Given the description of an element on the screen output the (x, y) to click on. 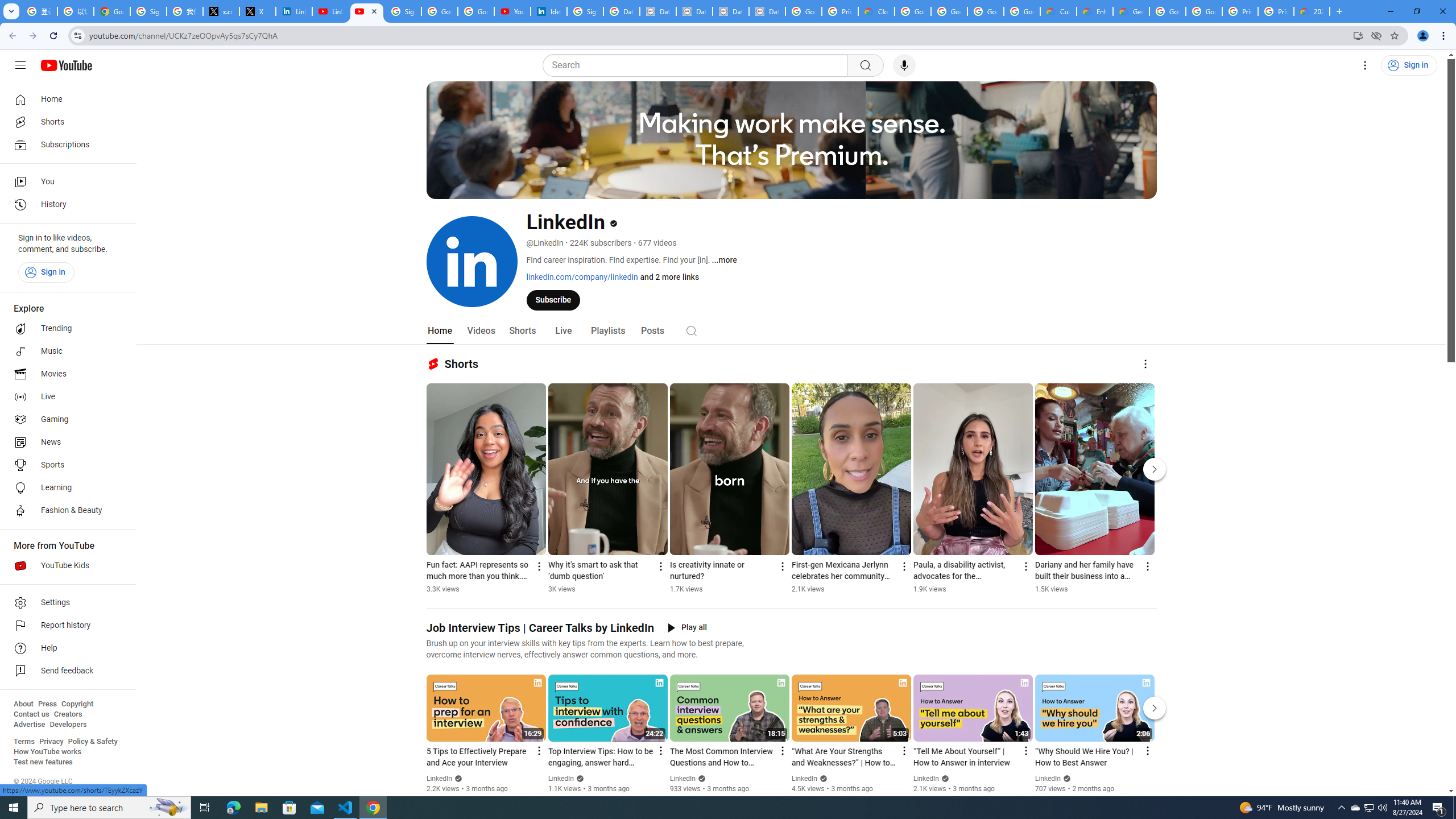
Verified (1065, 777)
Subscribe (552, 299)
Press (46, 703)
About (23, 703)
Sports (64, 464)
News (64, 441)
X (257, 11)
